Given the description of an element on the screen output the (x, y) to click on. 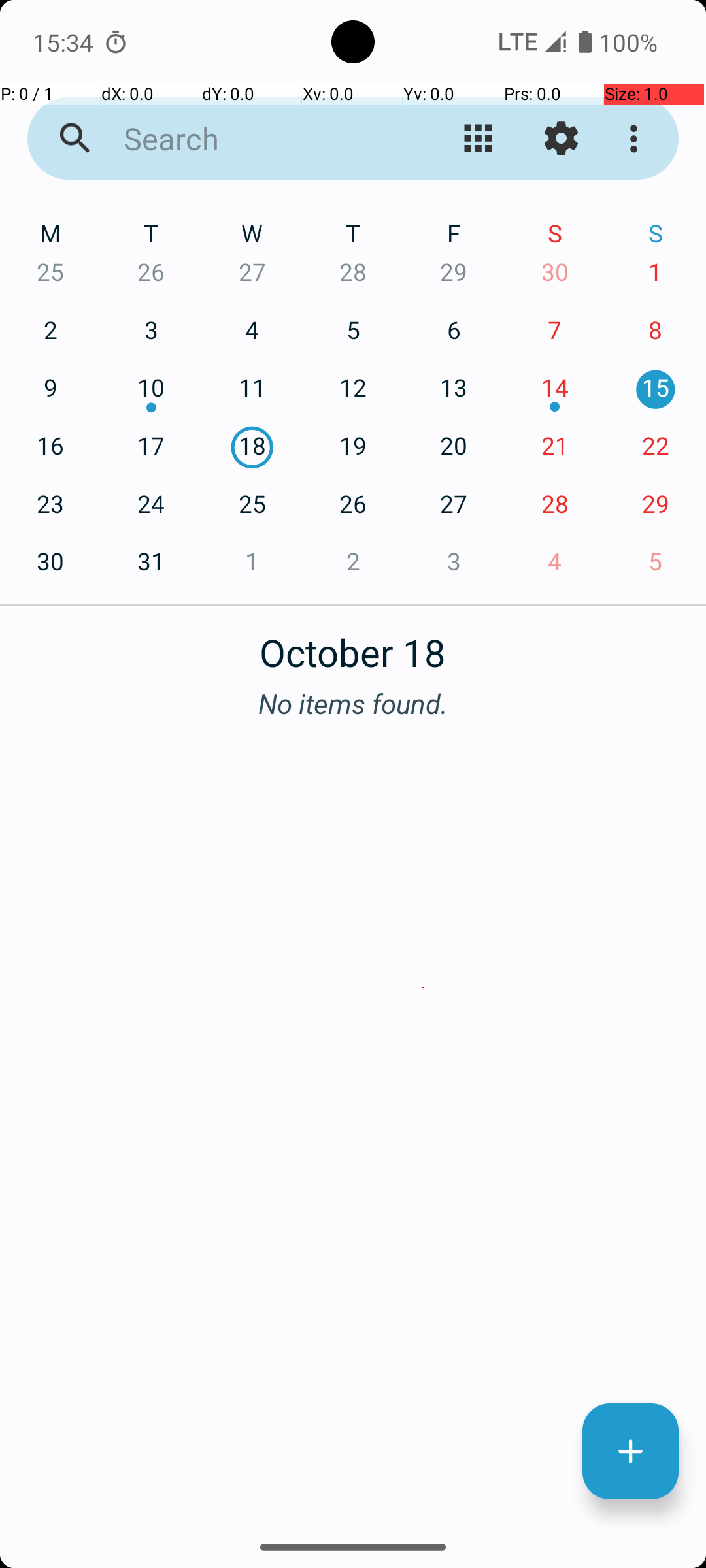
October 18 Element type: android.widget.TextView (352, 644)
